Given the description of an element on the screen output the (x, y) to click on. 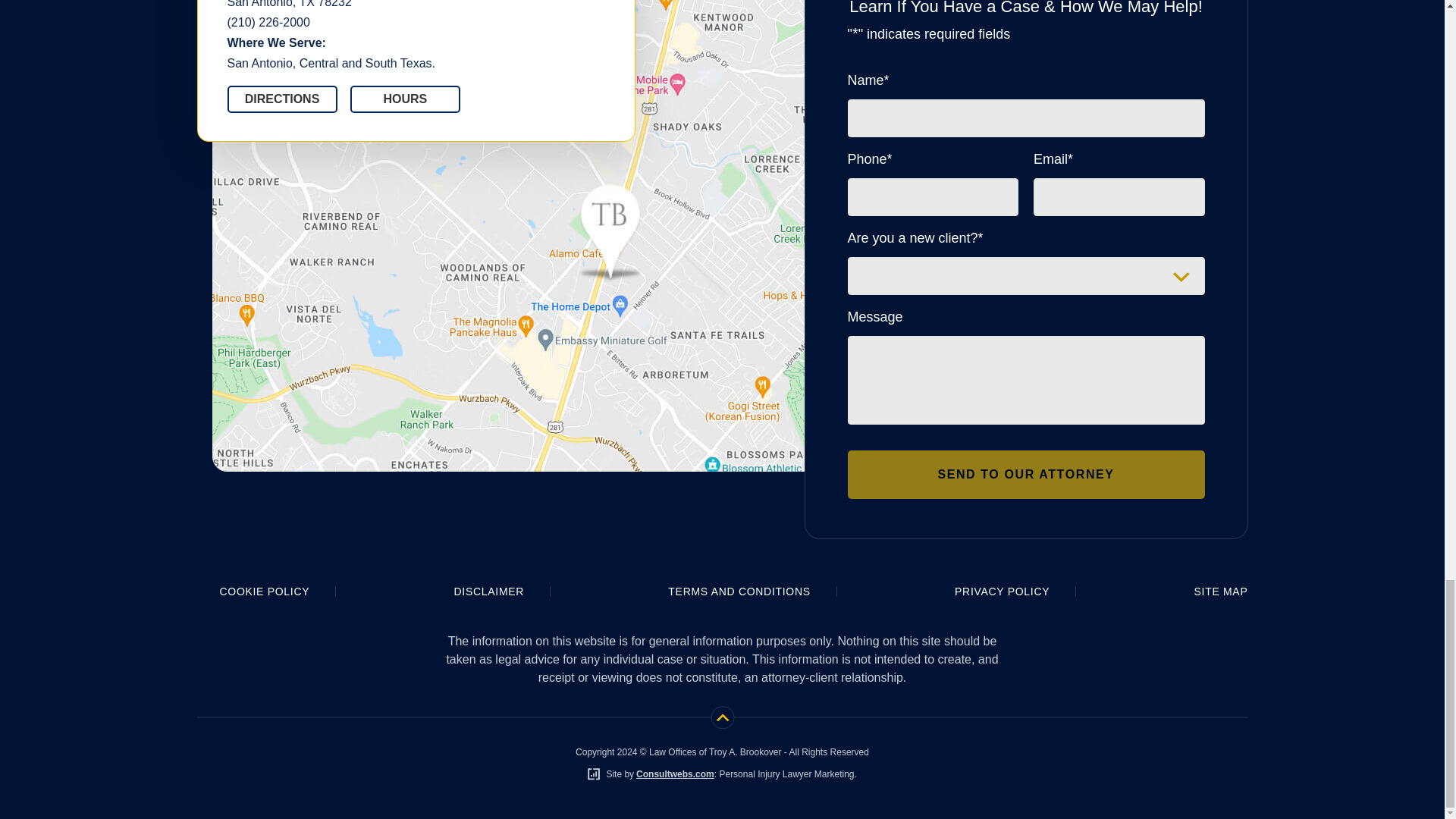
Send to Our Attorney (1026, 474)
